Given the description of an element on the screen output the (x, y) to click on. 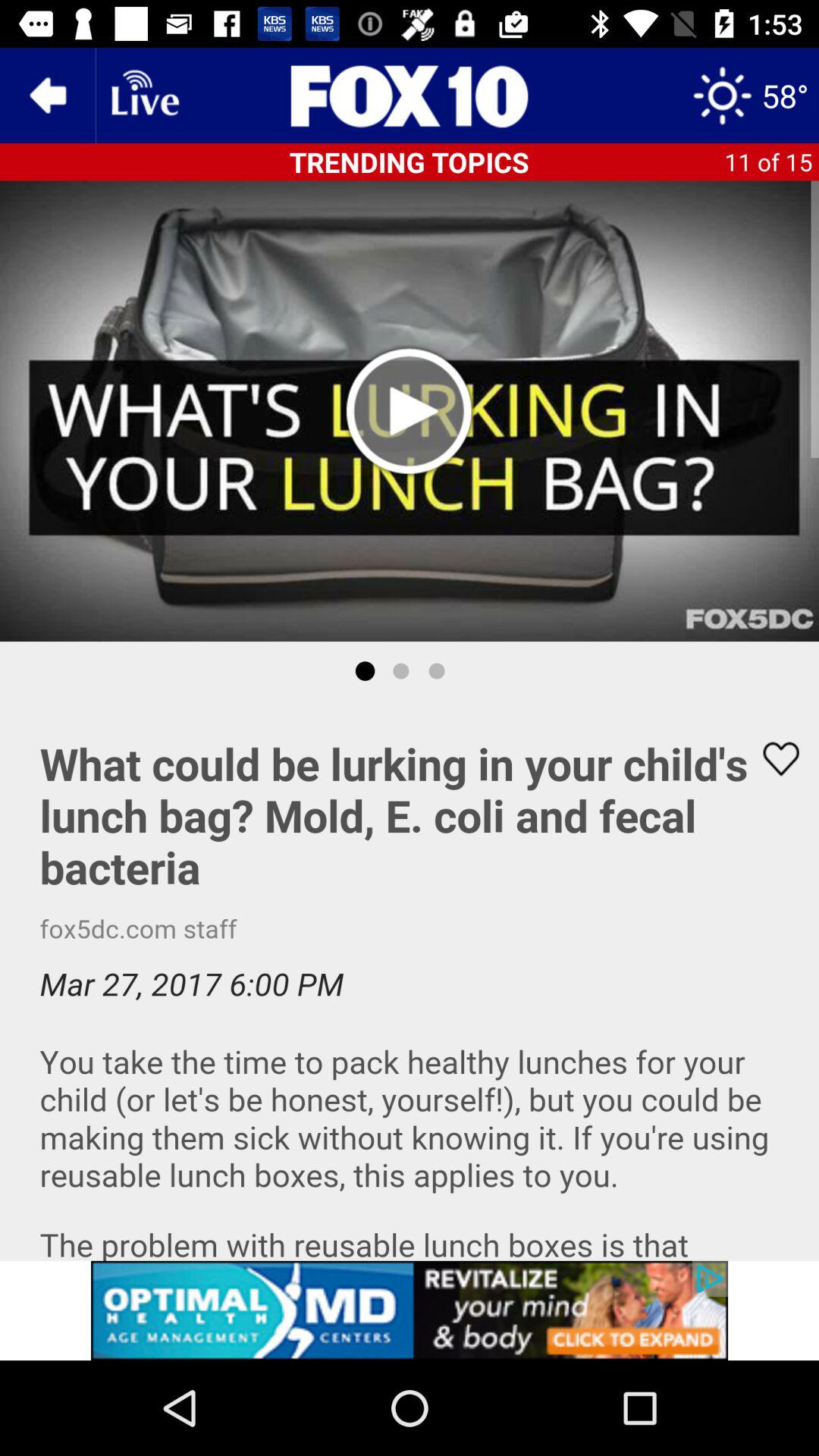
wifi pega (143, 95)
